Given the description of an element on the screen output the (x, y) to click on. 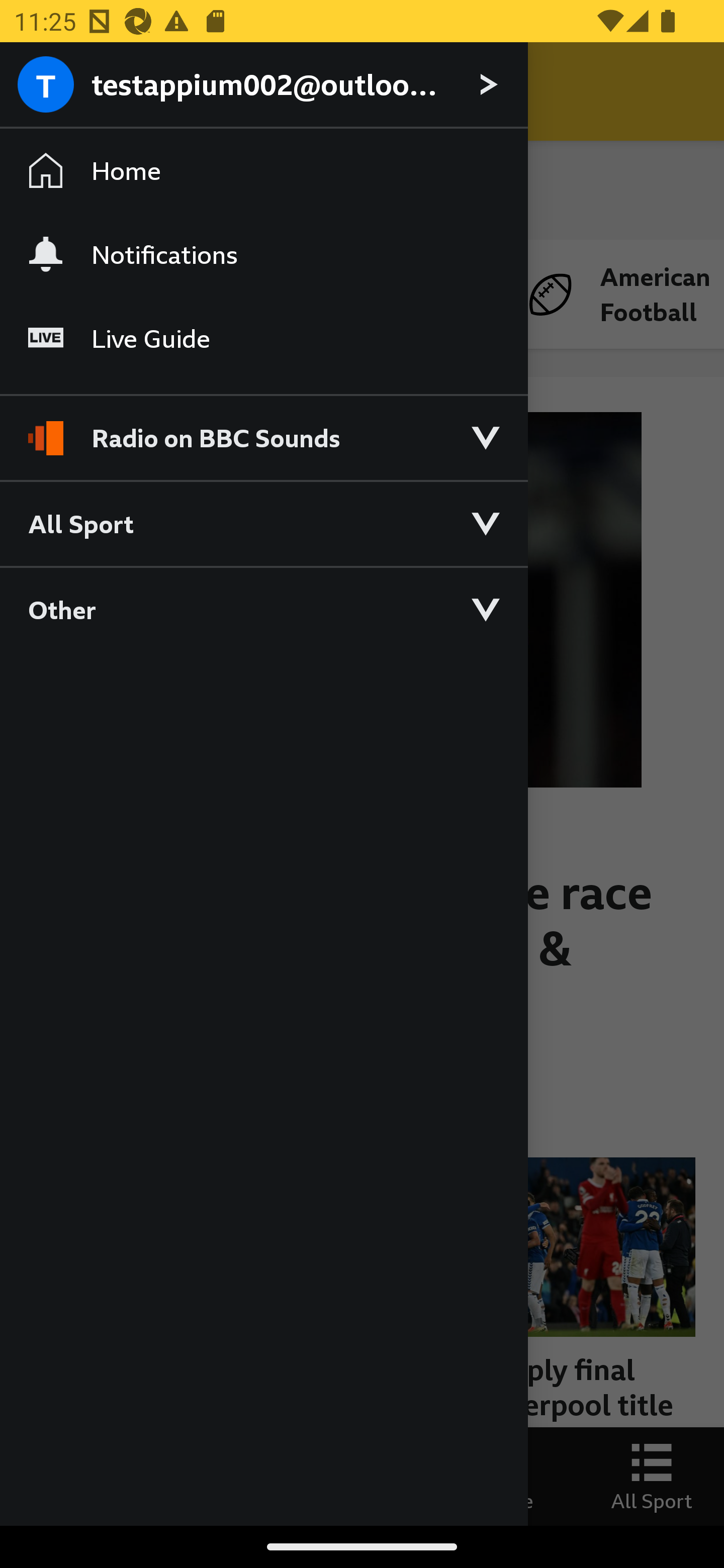
testappium002@outlook.com (263, 85)
Home (263, 170)
Notifications (263, 253)
Live Guide (263, 338)
Radio on BBC Sounds (263, 429)
All Sport (263, 522)
Other (263, 609)
